Given the description of an element on the screen output the (x, y) to click on. 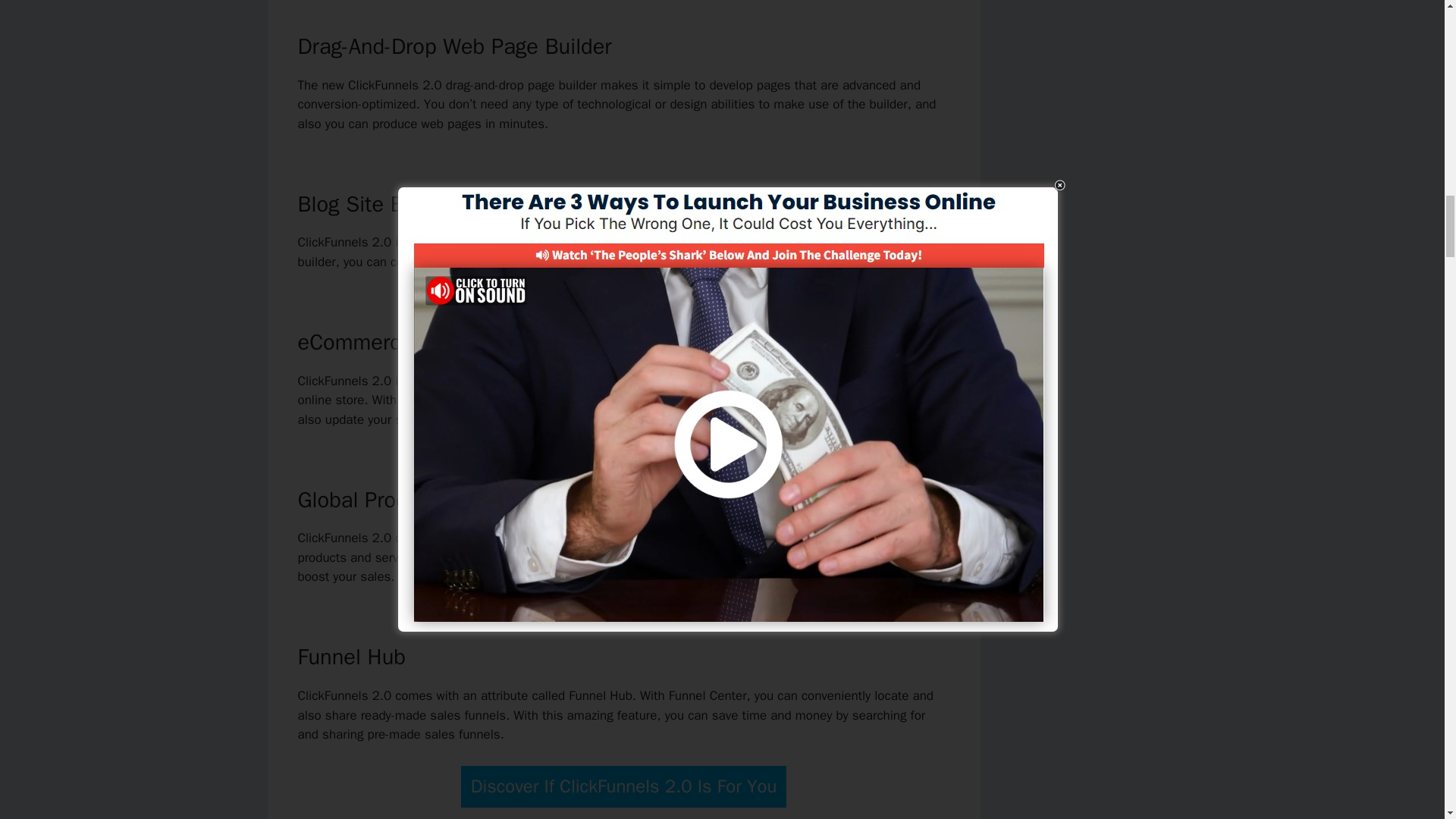
Discover If ClickFunnels 2.0 Is For You (624, 786)
